Given the description of an element on the screen output the (x, y) to click on. 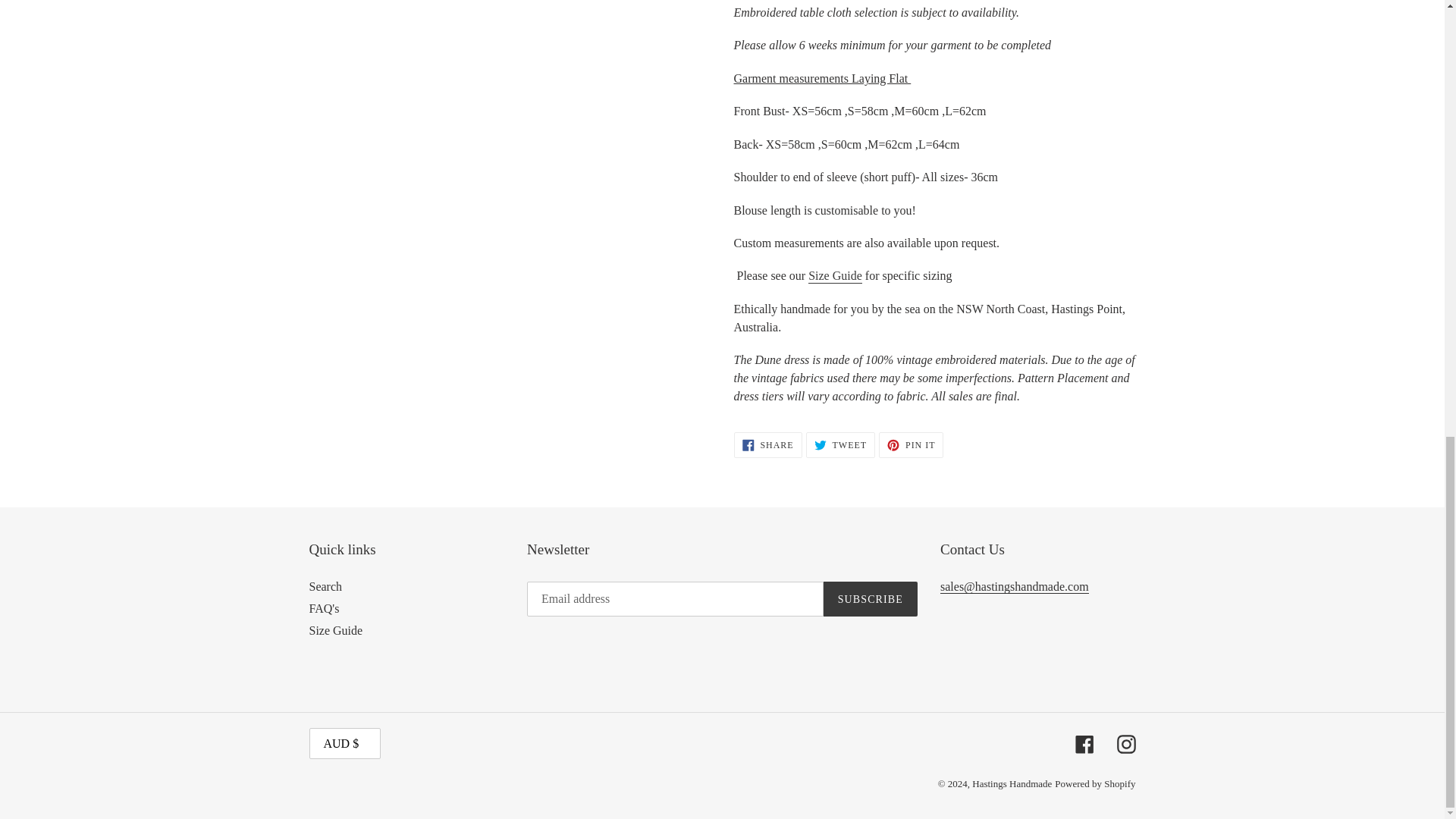
Search (325, 585)
Size Guide (834, 276)
SUBSCRIBE (767, 444)
Size Guide (870, 598)
Size guide (840, 444)
FAQ's (335, 630)
